Given the description of an element on the screen output the (x, y) to click on. 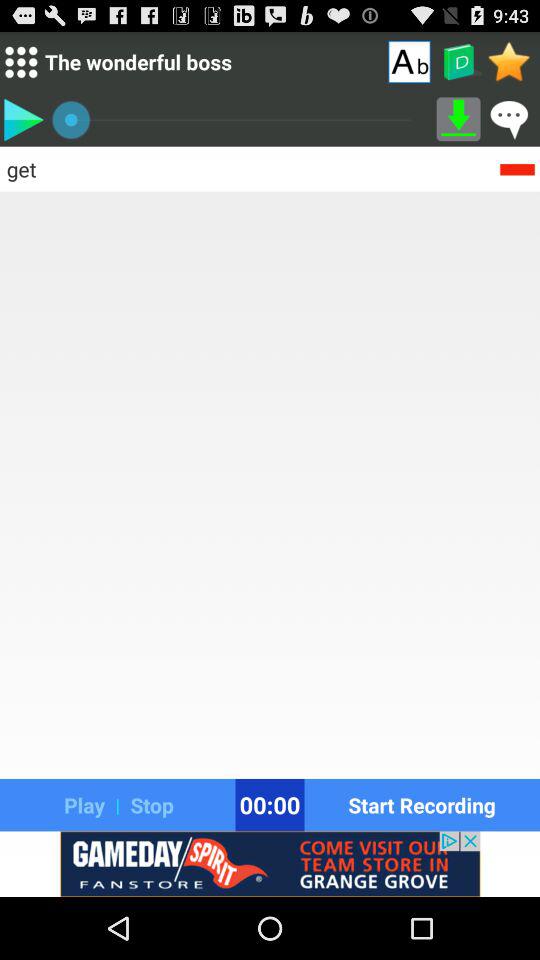
more options (20, 61)
